Given the description of an element on the screen output the (x, y) to click on. 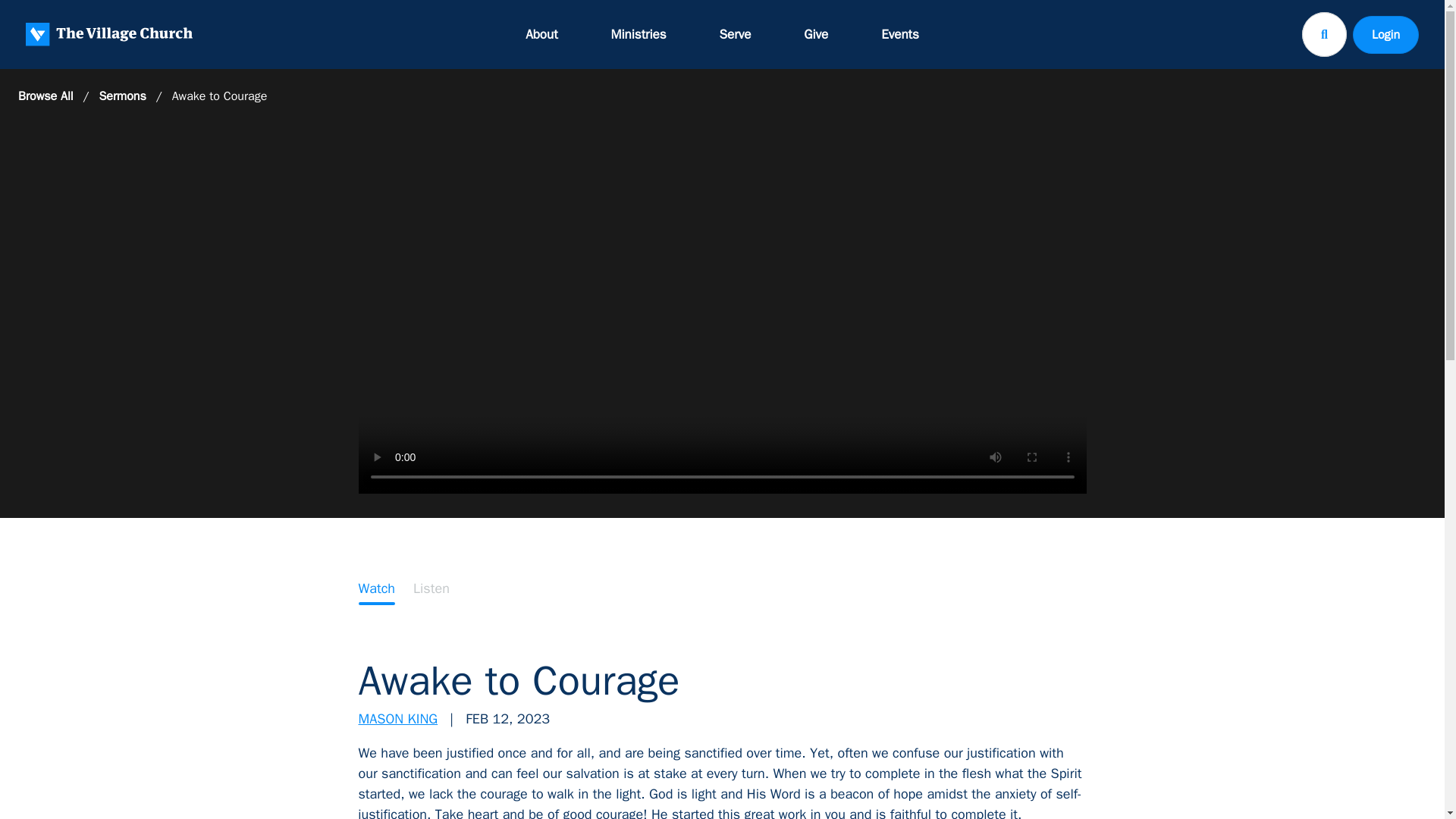
Browse All (45, 96)
Sermons (122, 96)
About (541, 34)
Ministries (638, 34)
Give (815, 34)
Events (899, 34)
Login (1385, 34)
Serve (735, 34)
